Given the description of an element on the screen output the (x, y) to click on. 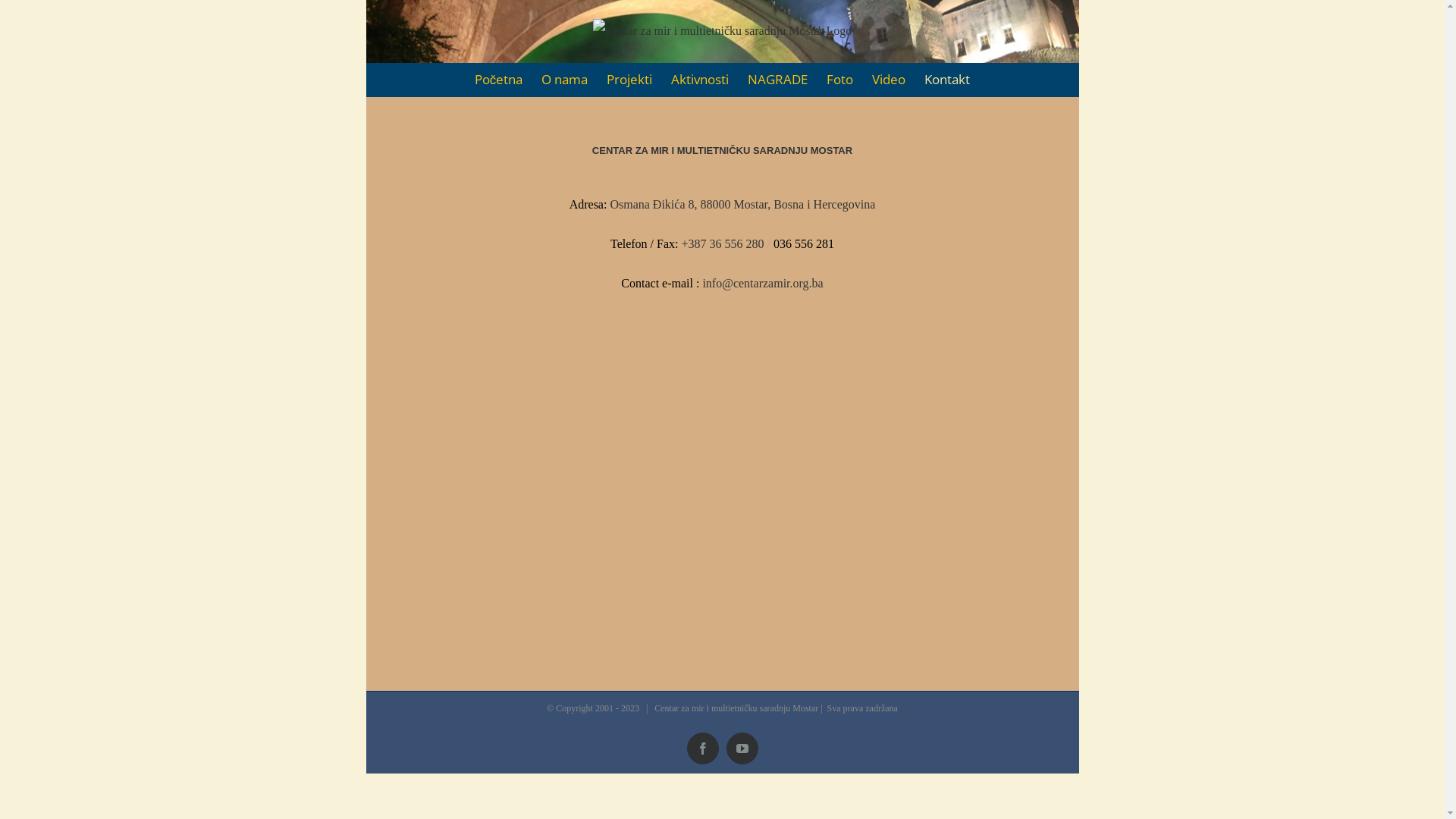
info@centarzamir.org.ba Element type: text (762, 282)
YouTube Element type: text (444, 26)
NAGRADE Element type: text (777, 79)
Kontakt Element type: text (946, 79)
Foto Element type: text (839, 79)
Facebook Element type: text (702, 748)
Facebook Element type: text (410, 26)
Projekti Element type: text (629, 79)
Video Element type: text (888, 79)
+387 36 556 280 Element type: text (722, 243)
Aktivnosti Element type: text (699, 79)
O nama Element type: text (564, 79)
YouTube Element type: text (742, 748)
